Given the description of an element on the screen output the (x, y) to click on. 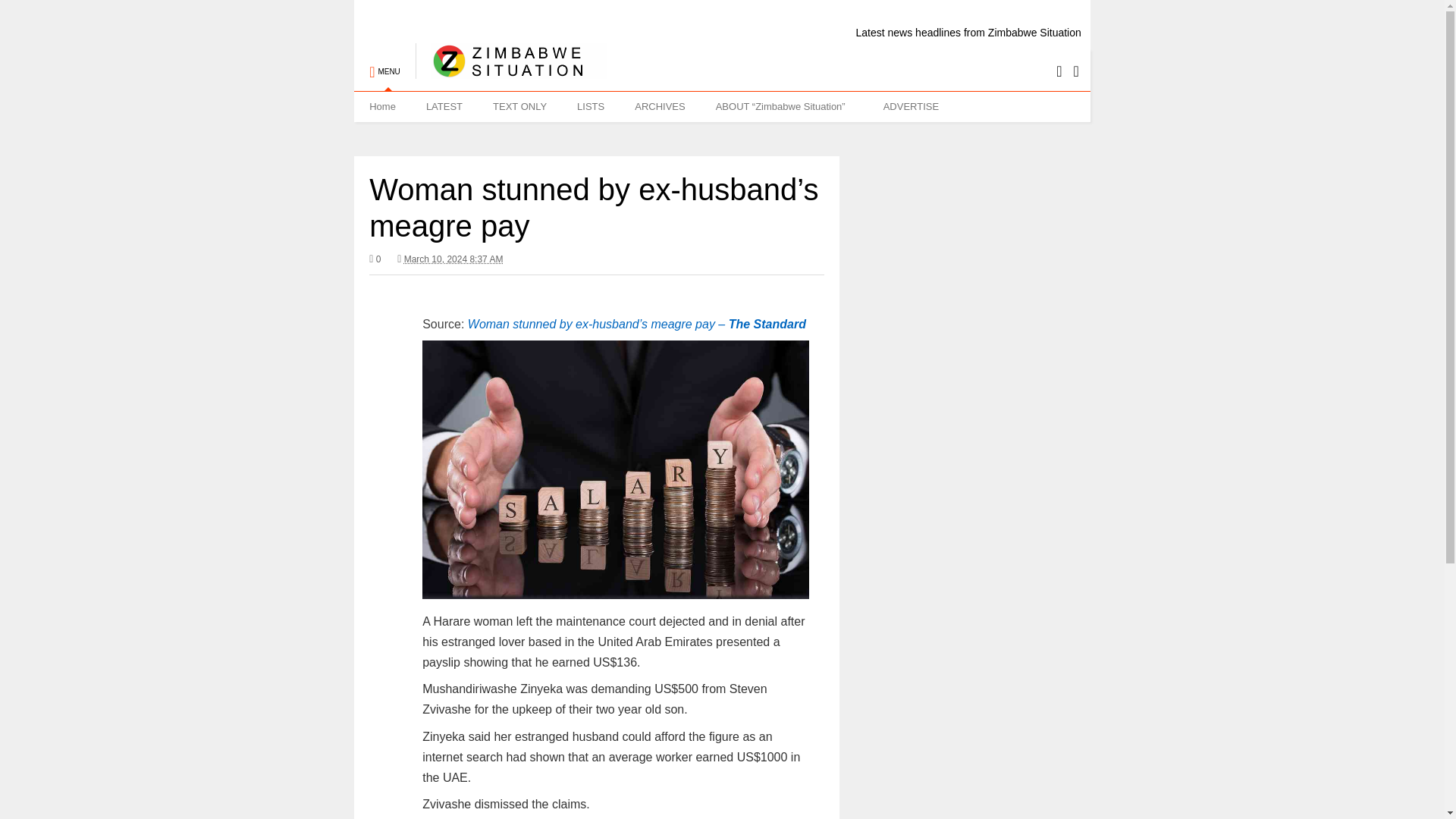
March 10, 2024 8:31 AM (453, 258)
TEXT ONLY (519, 106)
LISTS (591, 106)
ADVERTISE (910, 106)
LATEST (443, 106)
Home (381, 106)
Zimbabwe Situation (510, 71)
MENU (383, 65)
March 10, 2024 8:37 AM (449, 258)
ARCHIVES (660, 106)
